Given the description of an element on the screen output the (x, y) to click on. 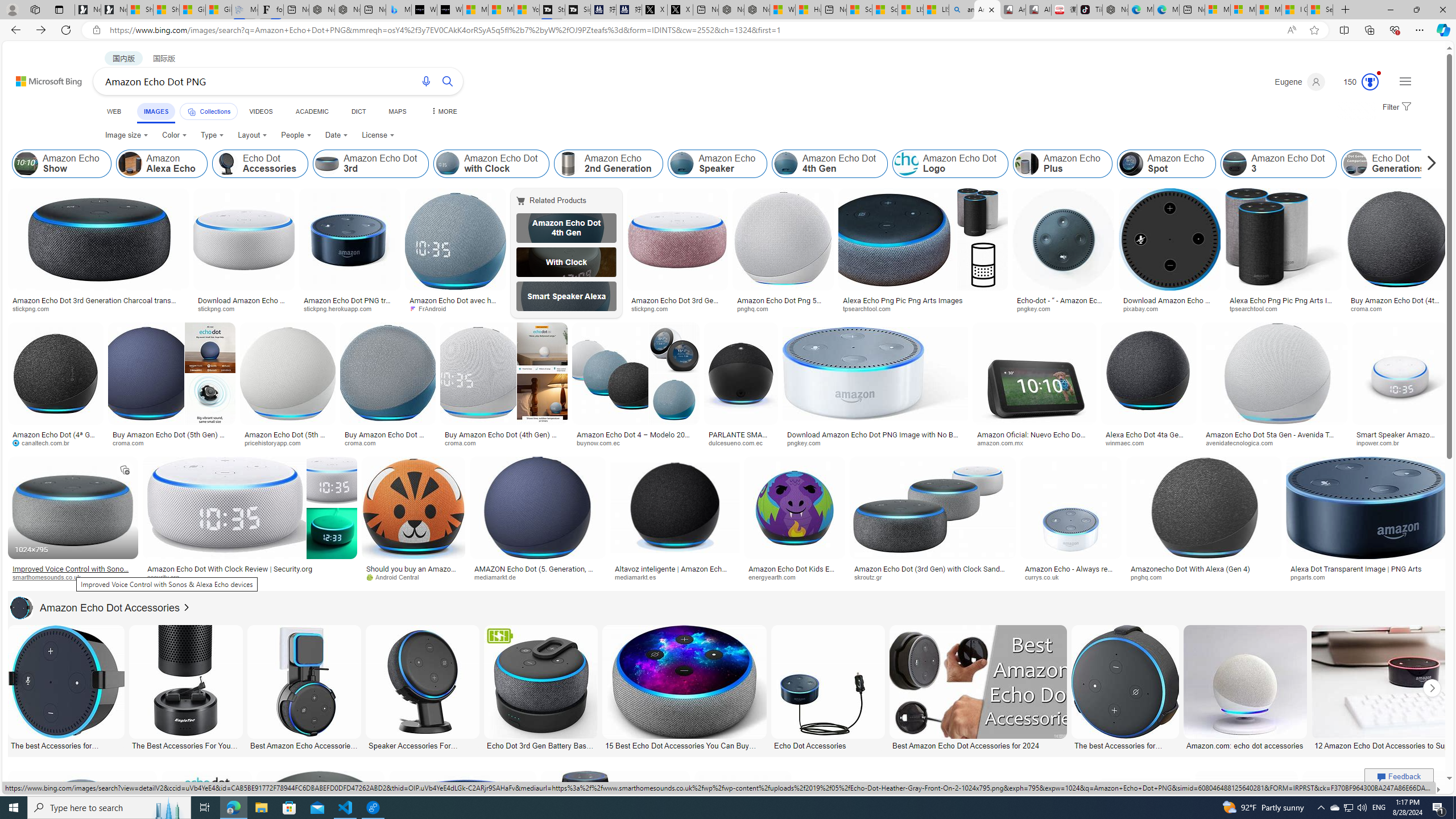
security.org (167, 576)
With Clock (565, 261)
Huge shark washes ashore at New York City beach | Watch (807, 9)
Amazon Echo Dot PNG transparente - StickPNG (349, 303)
Type (212, 135)
Wildlife - MSN (782, 9)
Date (336, 135)
Dropdown Menu (443, 111)
avenidatecnologica.com (1243, 442)
tpsearchtool.com (1283, 308)
mediamarkt.de (537, 576)
